Given the description of an element on the screen output the (x, y) to click on. 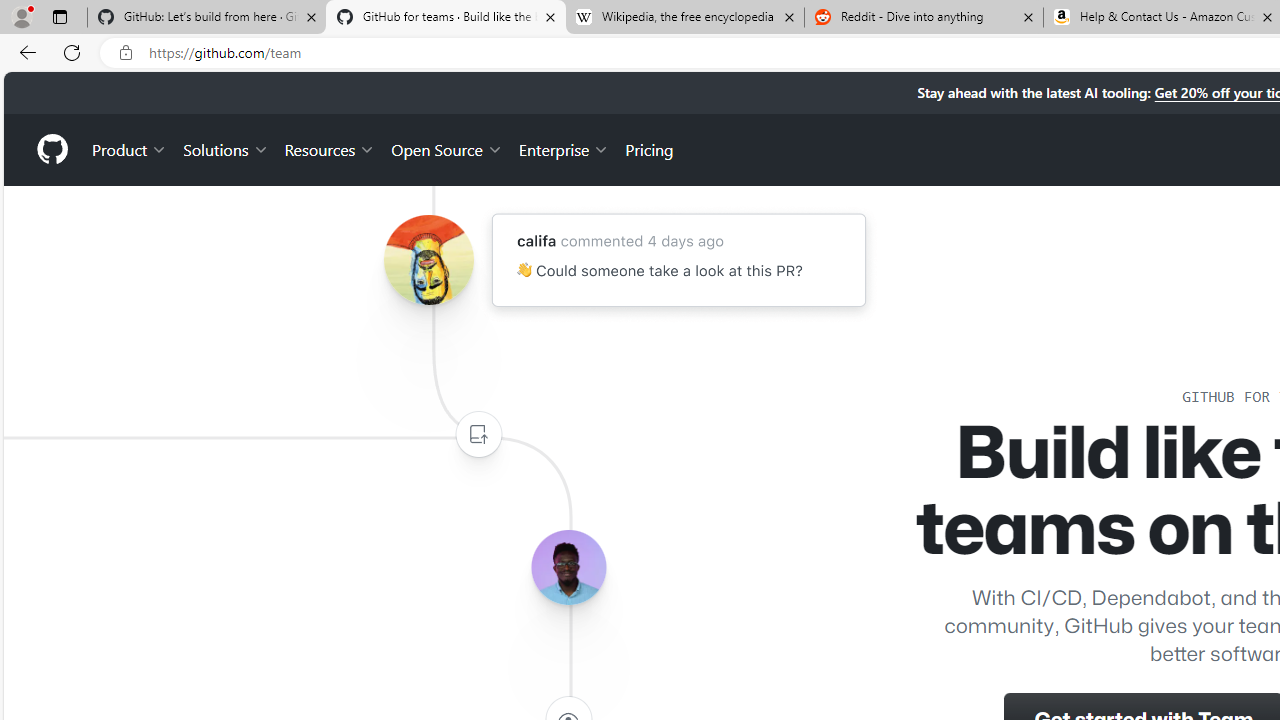
Solutions (225, 148)
Open Source (446, 148)
Product (130, 148)
Class: color-fg-muted width-full (478, 434)
Solutions (225, 148)
Enterprise (563, 148)
Product (130, 148)
